Given the description of an element on the screen output the (x, y) to click on. 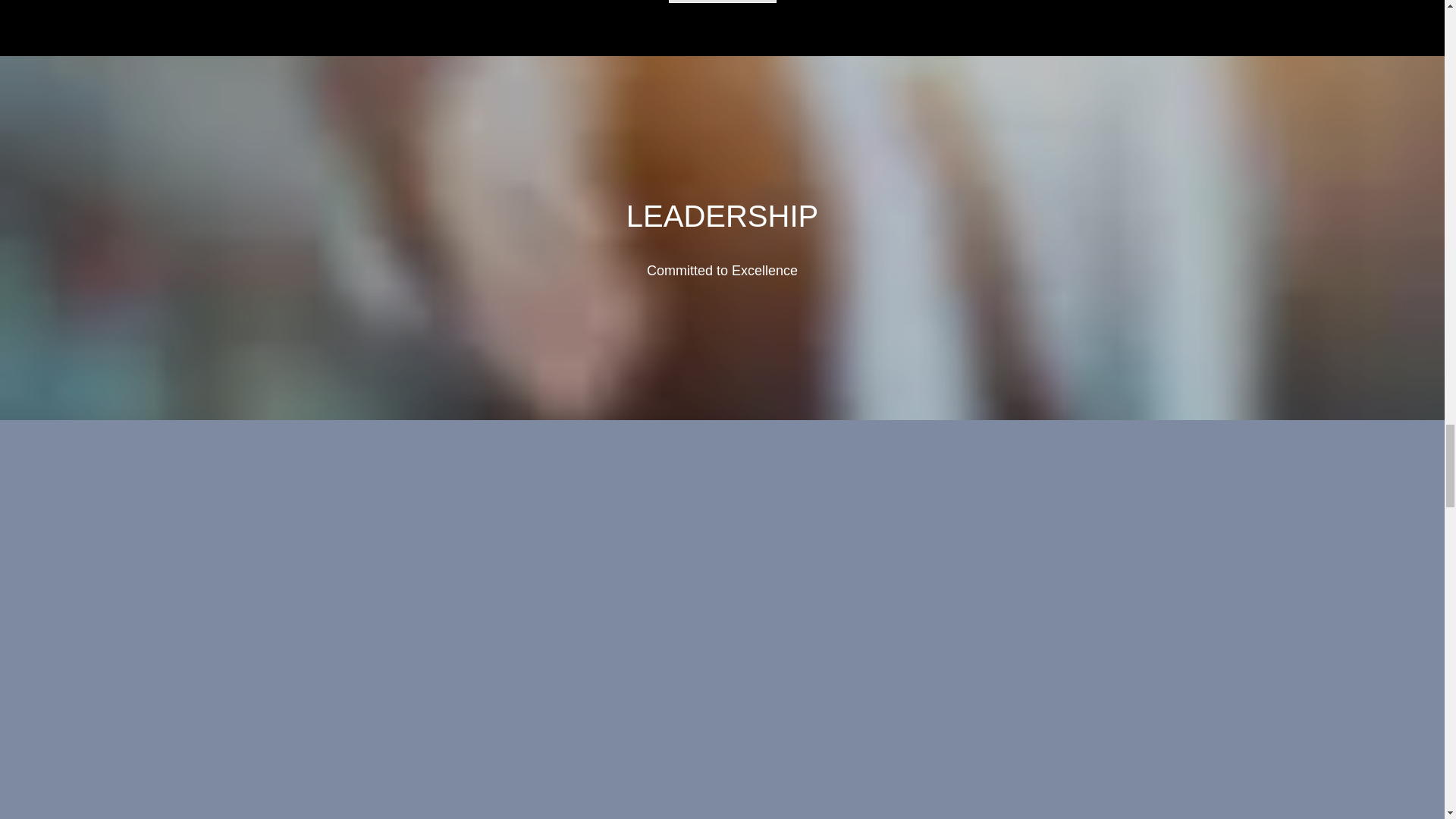
Book Now (722, 1)
